Given the description of an element on the screen output the (x, y) to click on. 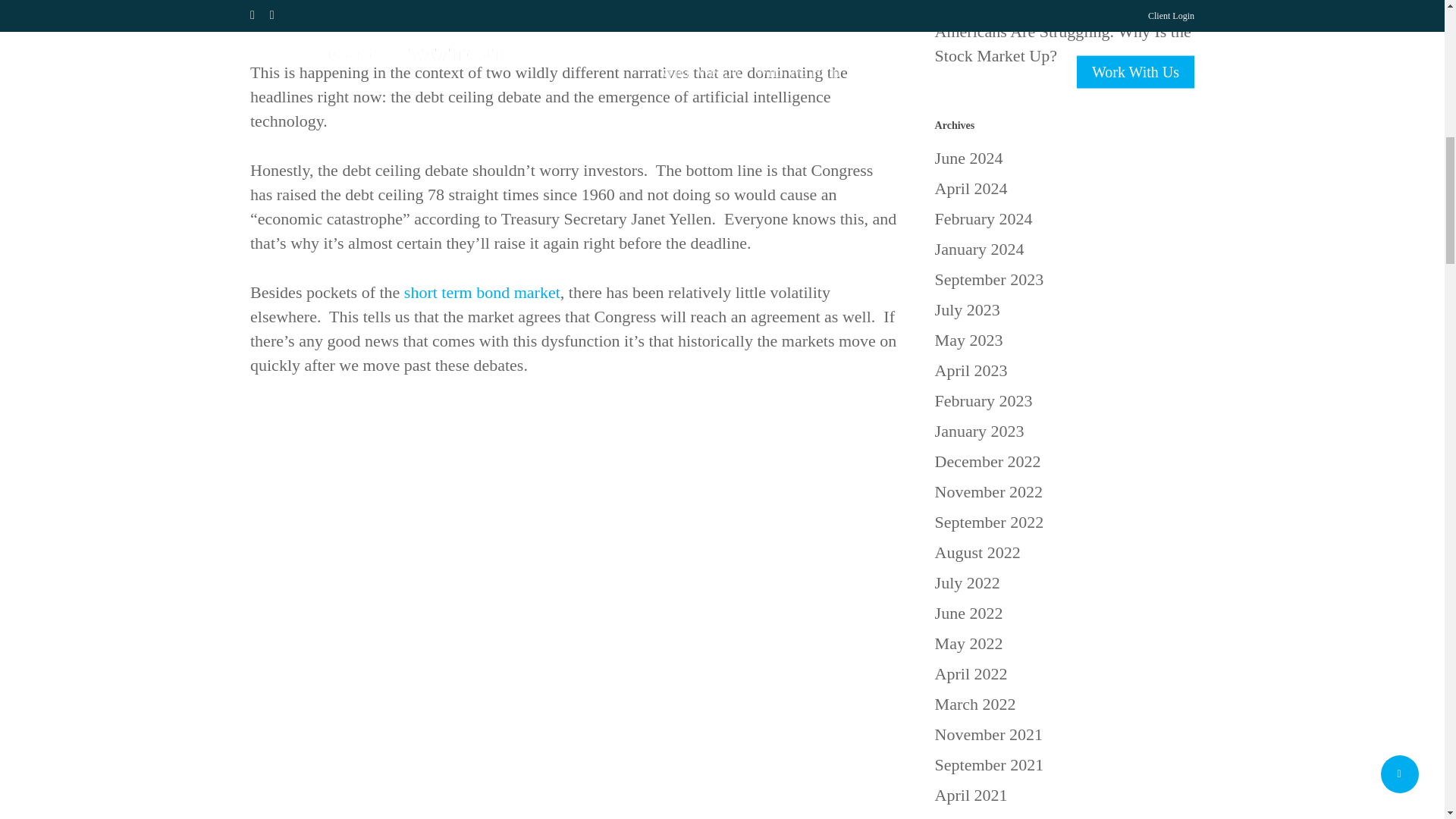
September 2023 (1063, 279)
July 2023 (1063, 310)
January 2024 (1063, 249)
short term bond market (482, 292)
February 2024 (1063, 218)
April 2024 (1063, 188)
June 2024 (1063, 158)
